Given the description of an element on the screen output the (x, y) to click on. 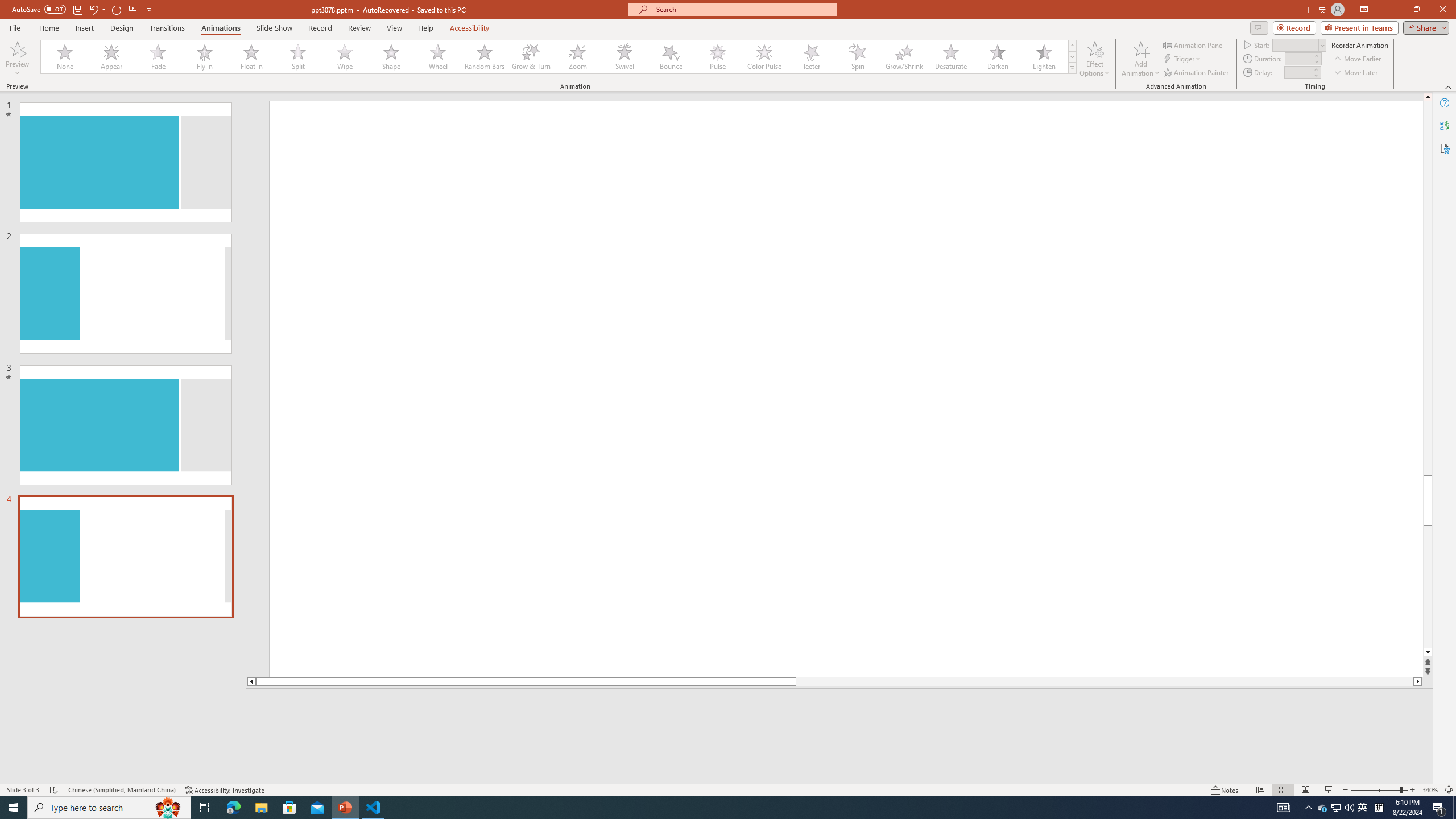
Wipe (344, 56)
Animation Delay (1297, 72)
Shape (391, 56)
Move Earlier (1357, 58)
